Given the description of an element on the screen output the (x, y) to click on. 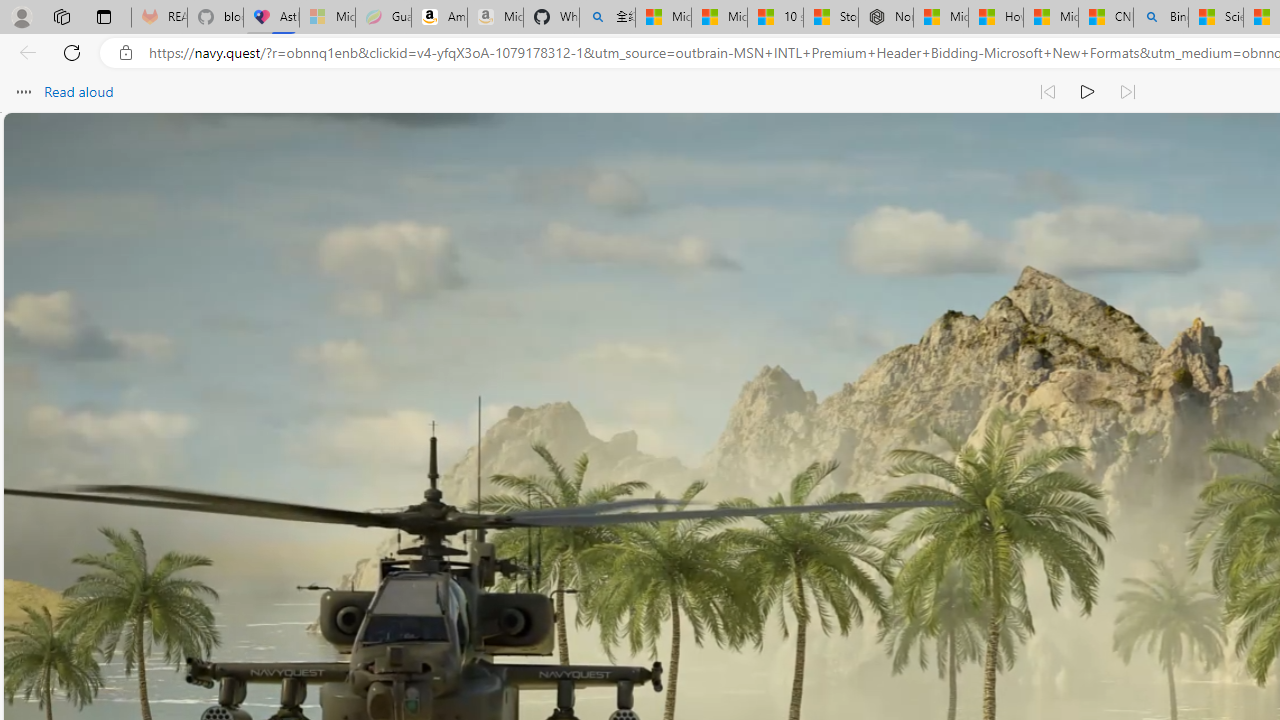
Asthma Inhalers: Names and Types (271, 17)
Continue to read aloud (Ctrl+Shift+U) (1087, 92)
Bing (1160, 17)
Science - MSN (1215, 17)
CNN - MSN (1105, 17)
